Given the description of an element on the screen output the (x, y) to click on. 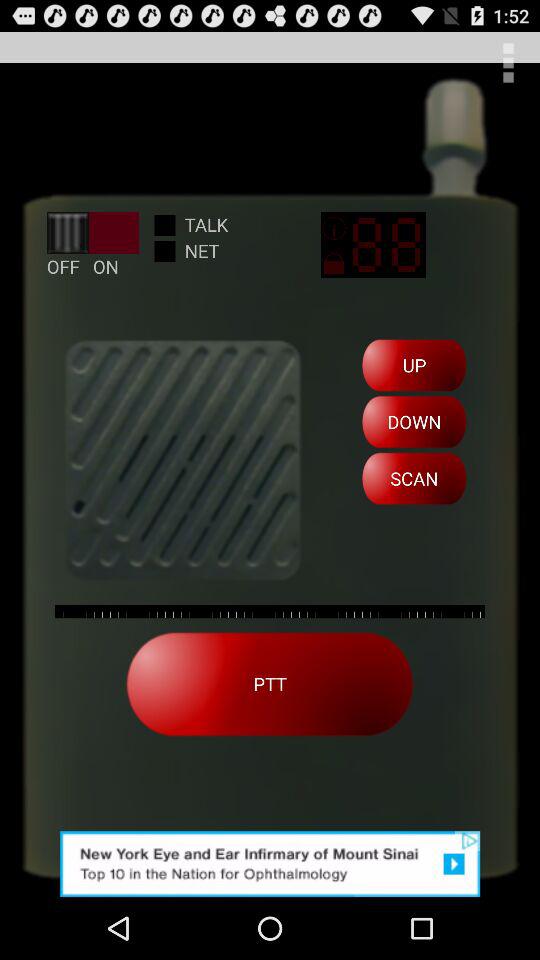
menu (508, 62)
